Given the description of an element on the screen output the (x, y) to click on. 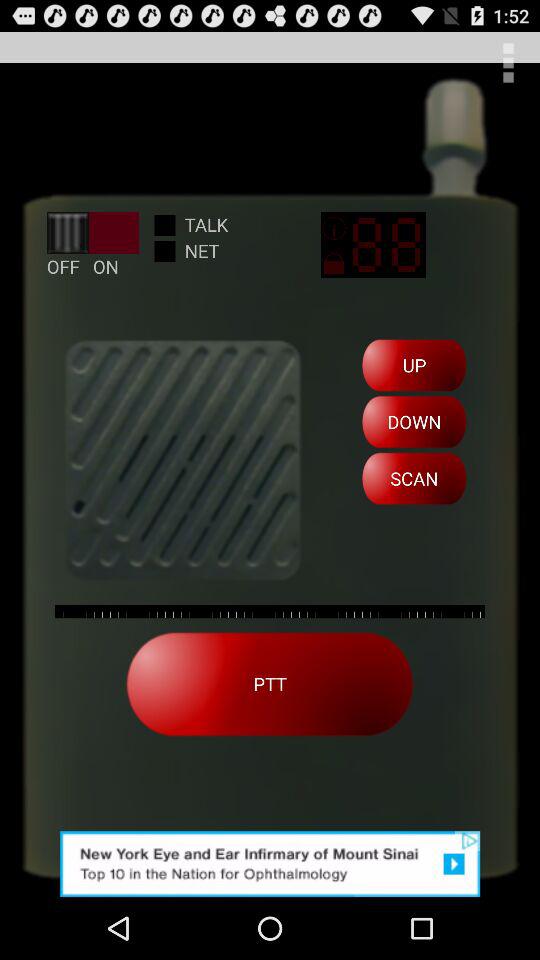
menu (508, 62)
